Given the description of an element on the screen output the (x, y) to click on. 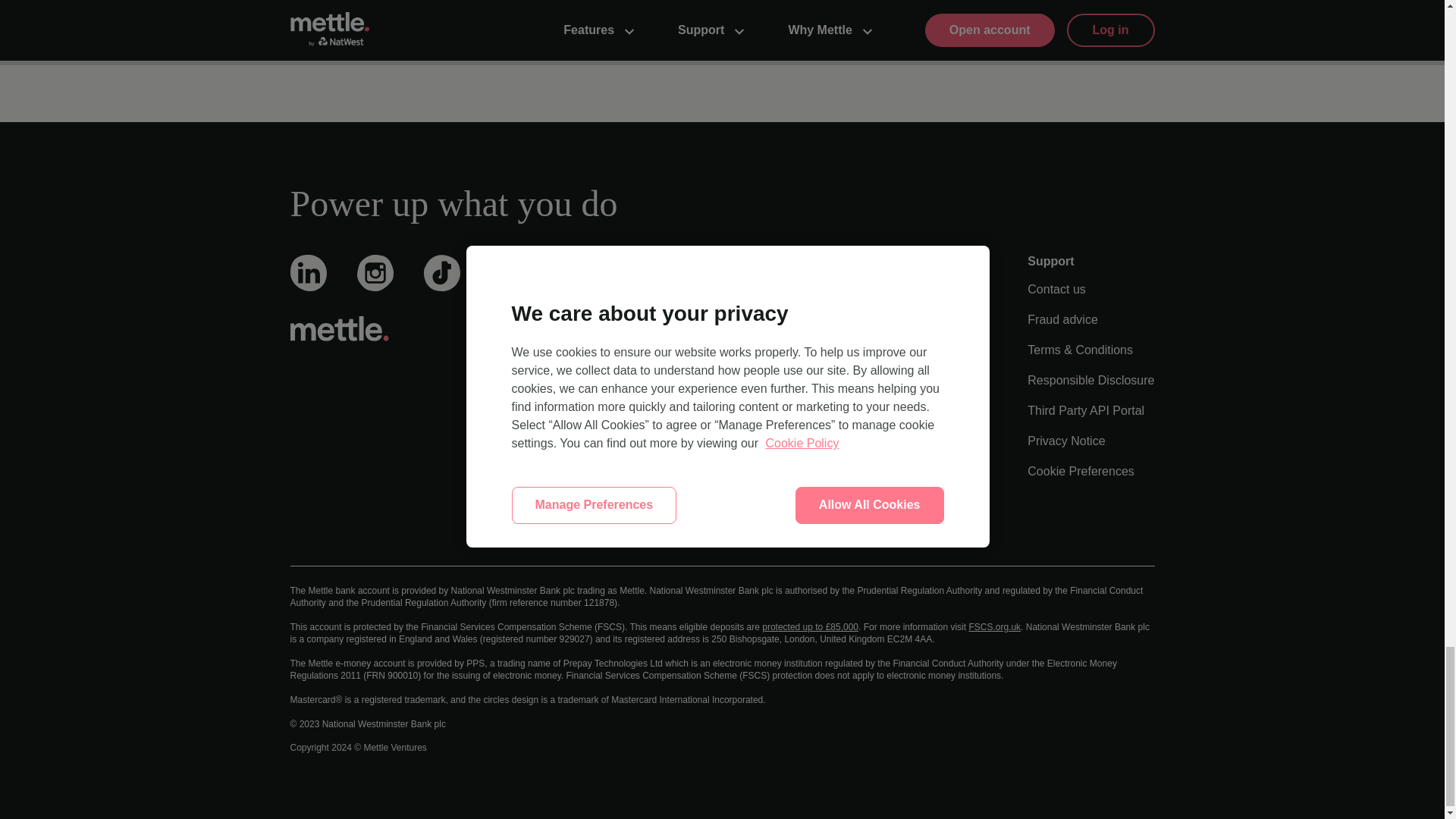
Pots (597, 349)
Google Pay (617, 531)
Savings pot (617, 379)
Help (804, 349)
Apple Pay (612, 501)
FreeAgent accounting software (668, 471)
Glossary  (816, 318)
Tax calculation (625, 440)
LinkedIn (307, 284)
TikTok (441, 285)
